Given the description of an element on the screen output the (x, y) to click on. 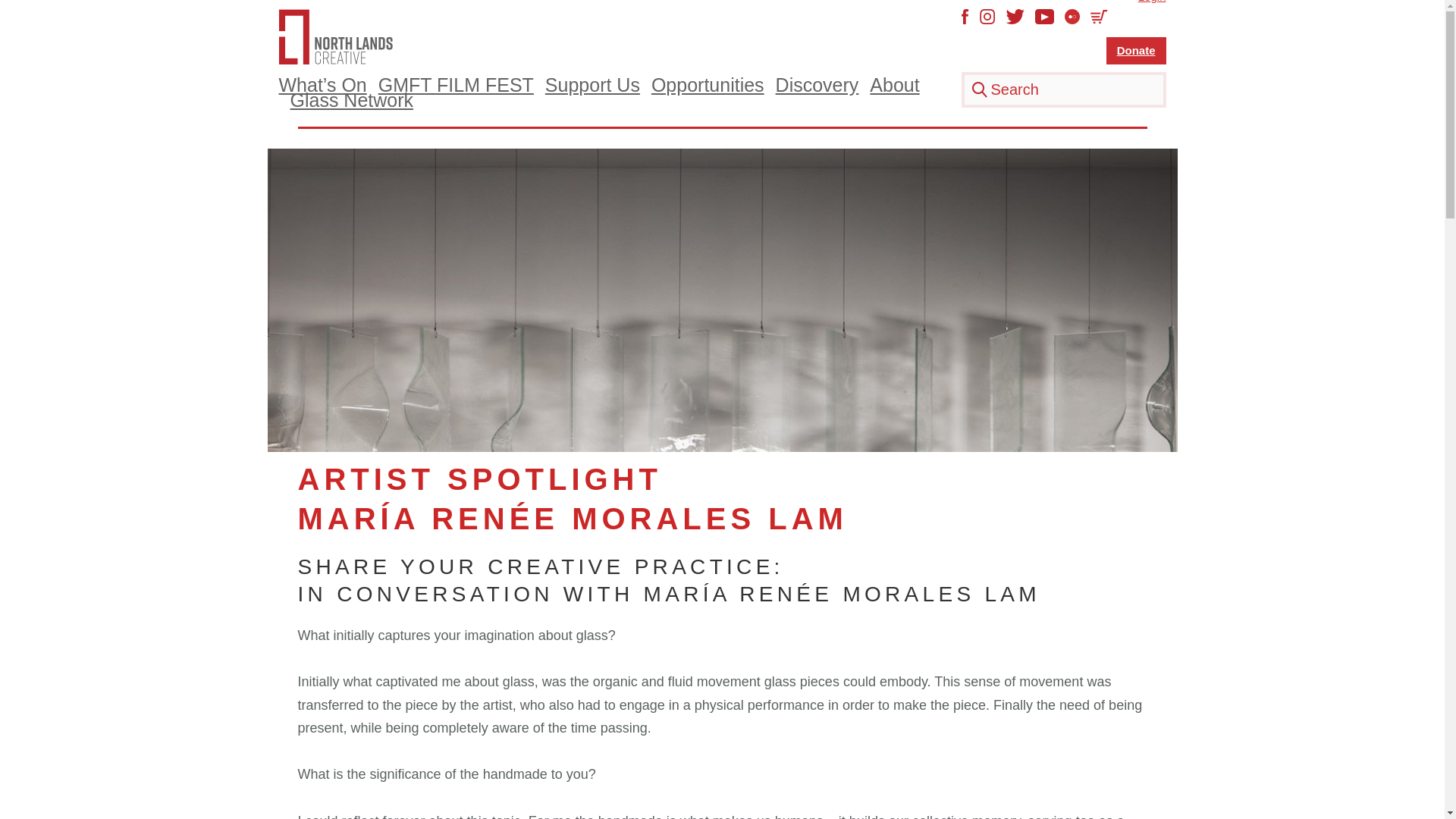
About (893, 84)
Support Us (592, 84)
Discovery (817, 84)
GMFT FILM FEST (456, 84)
Search for: (1063, 89)
Opportunities (707, 84)
